Given the description of an element on the screen output the (x, y) to click on. 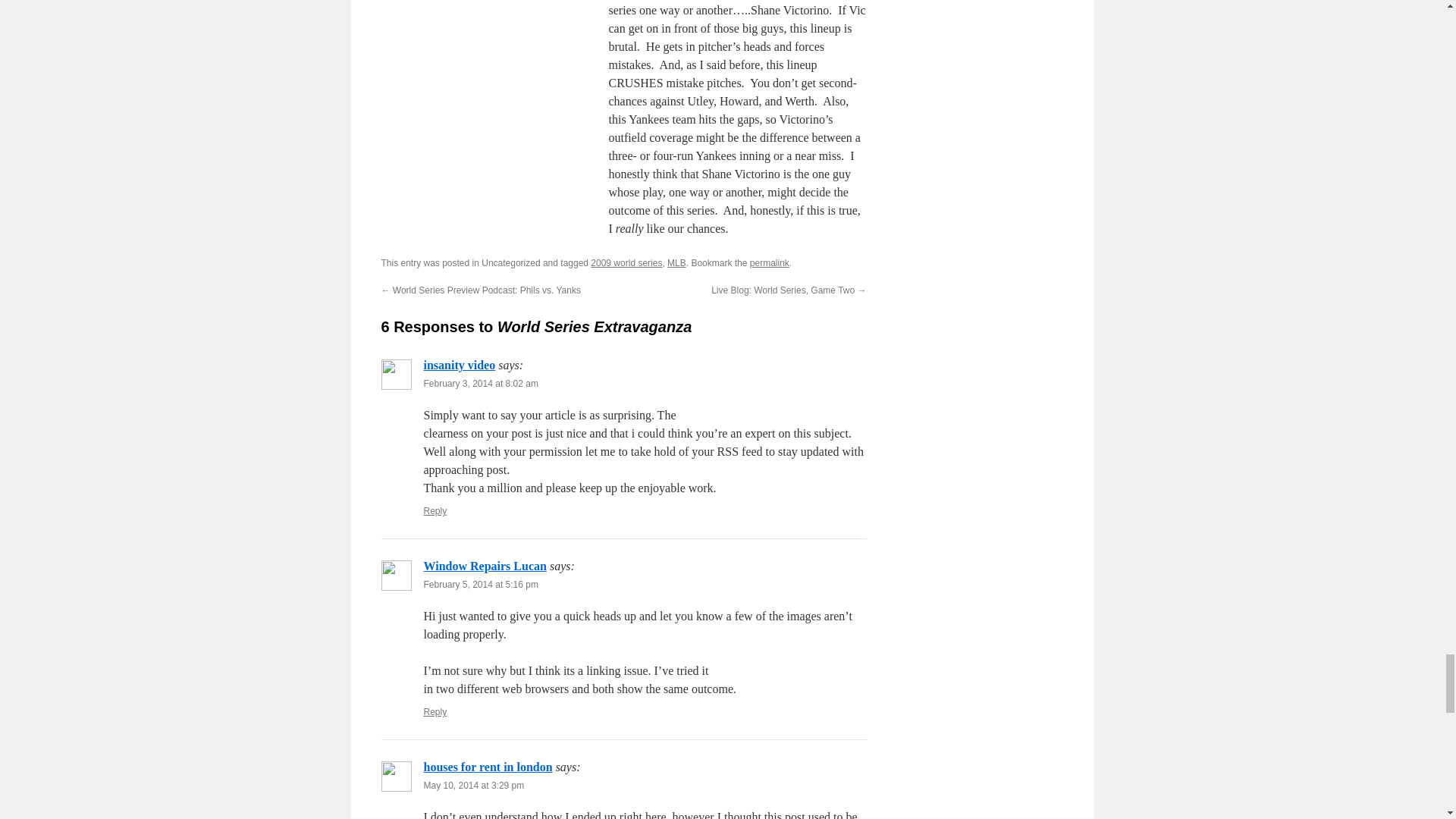
houses for rent in london (487, 766)
permalink (769, 262)
insanity video (459, 364)
February 5, 2014 at 5:16 pm (480, 584)
Reply (434, 711)
Reply (434, 511)
May 10, 2014 at 3:29 pm (473, 785)
2009 world series (626, 262)
MLB (675, 262)
February 3, 2014 at 8:02 am (480, 383)
